Given the description of an element on the screen output the (x, y) to click on. 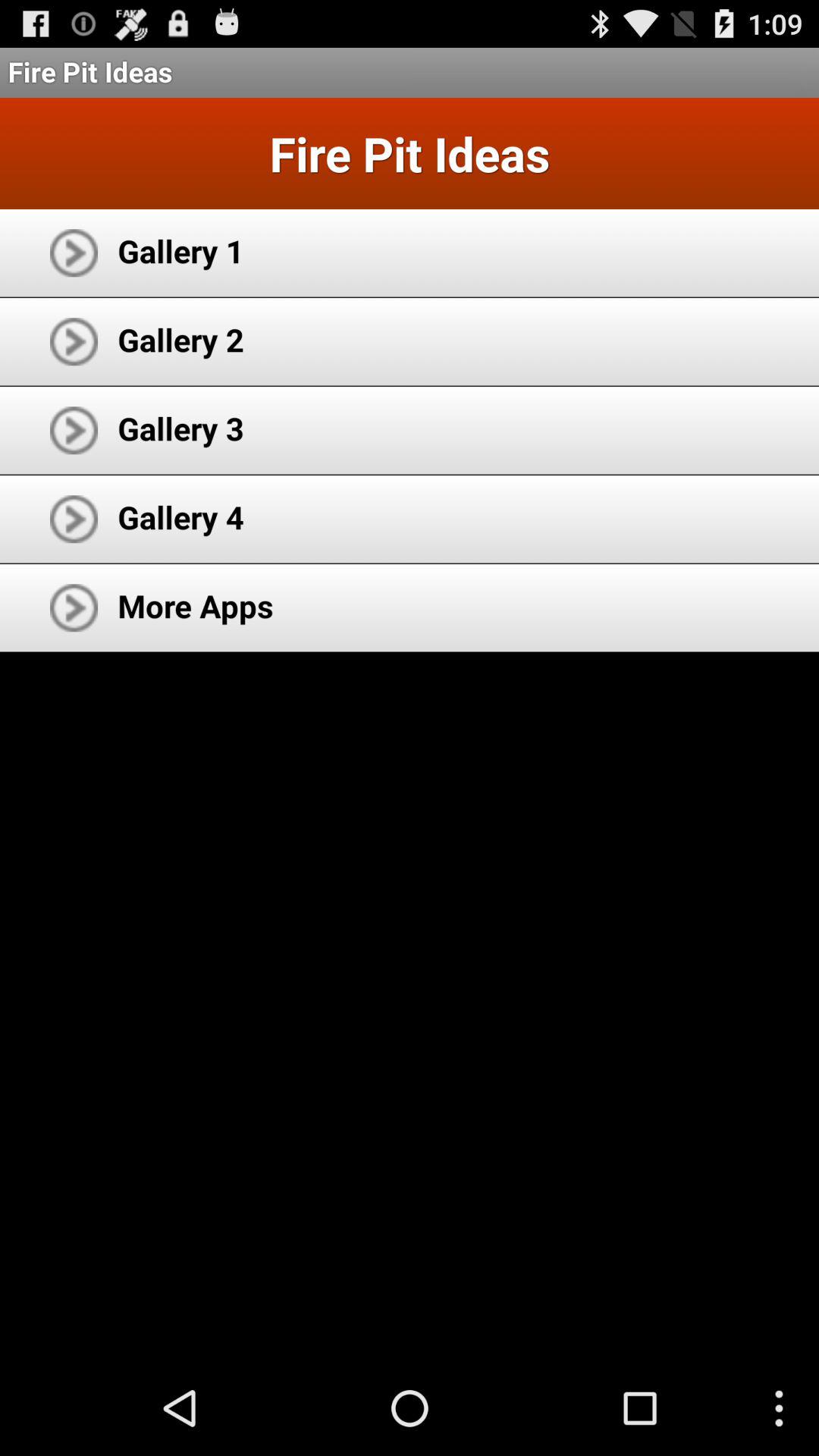
swipe until gallery 2 (180, 339)
